Given the description of an element on the screen output the (x, y) to click on. 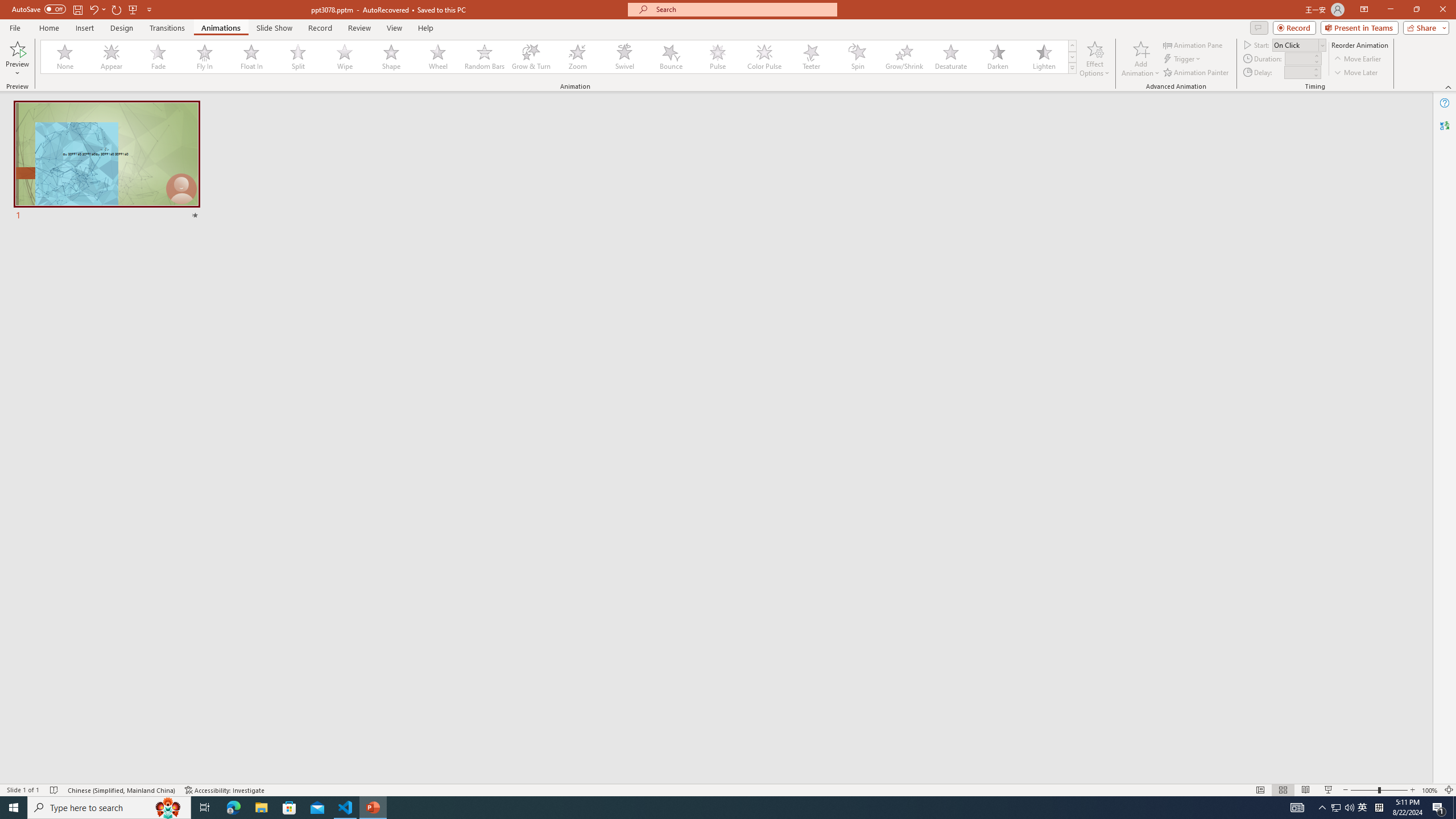
Fly In (205, 56)
Swivel (624, 56)
Animation Pane (1193, 44)
Appear (111, 56)
Move Earlier (1357, 58)
